Given the description of an element on the screen output the (x, y) to click on. 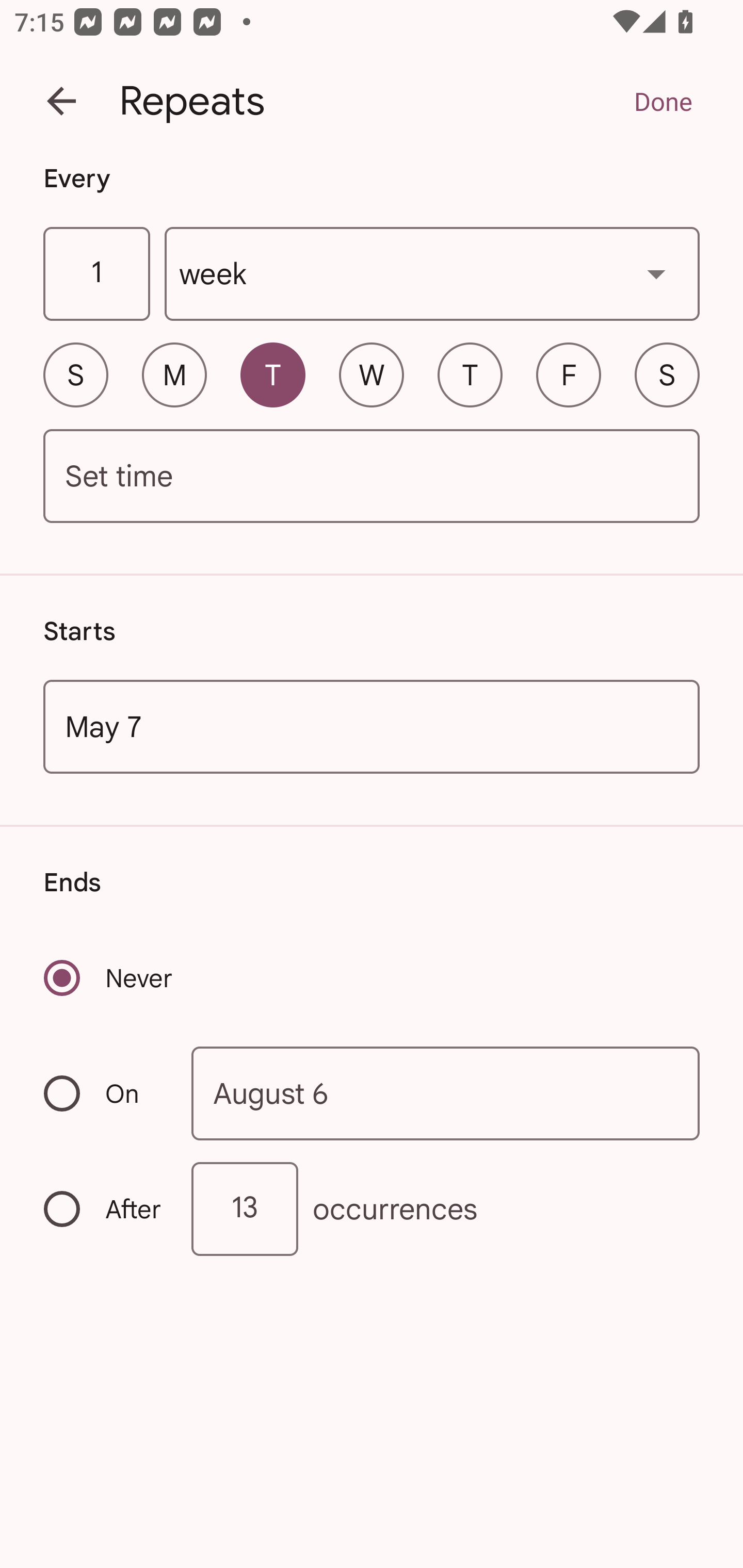
Back (61, 101)
Done (663, 101)
1 (96, 274)
week (431, 274)
Show dropdown menu (655, 273)
S Sunday (75, 374)
M Monday (173, 374)
T Tuesday, selected (272, 374)
W Wednesday (371, 374)
T Thursday (469, 374)
F Friday (568, 374)
S Saturday (666, 374)
Set time (371, 476)
May 7 (371, 726)
Never Recurrence never ends (109, 978)
August 6 (445, 1092)
On Recurrence ends on a specific date (104, 1093)
13 (244, 1208)
